Given the description of an element on the screen output the (x, y) to click on. 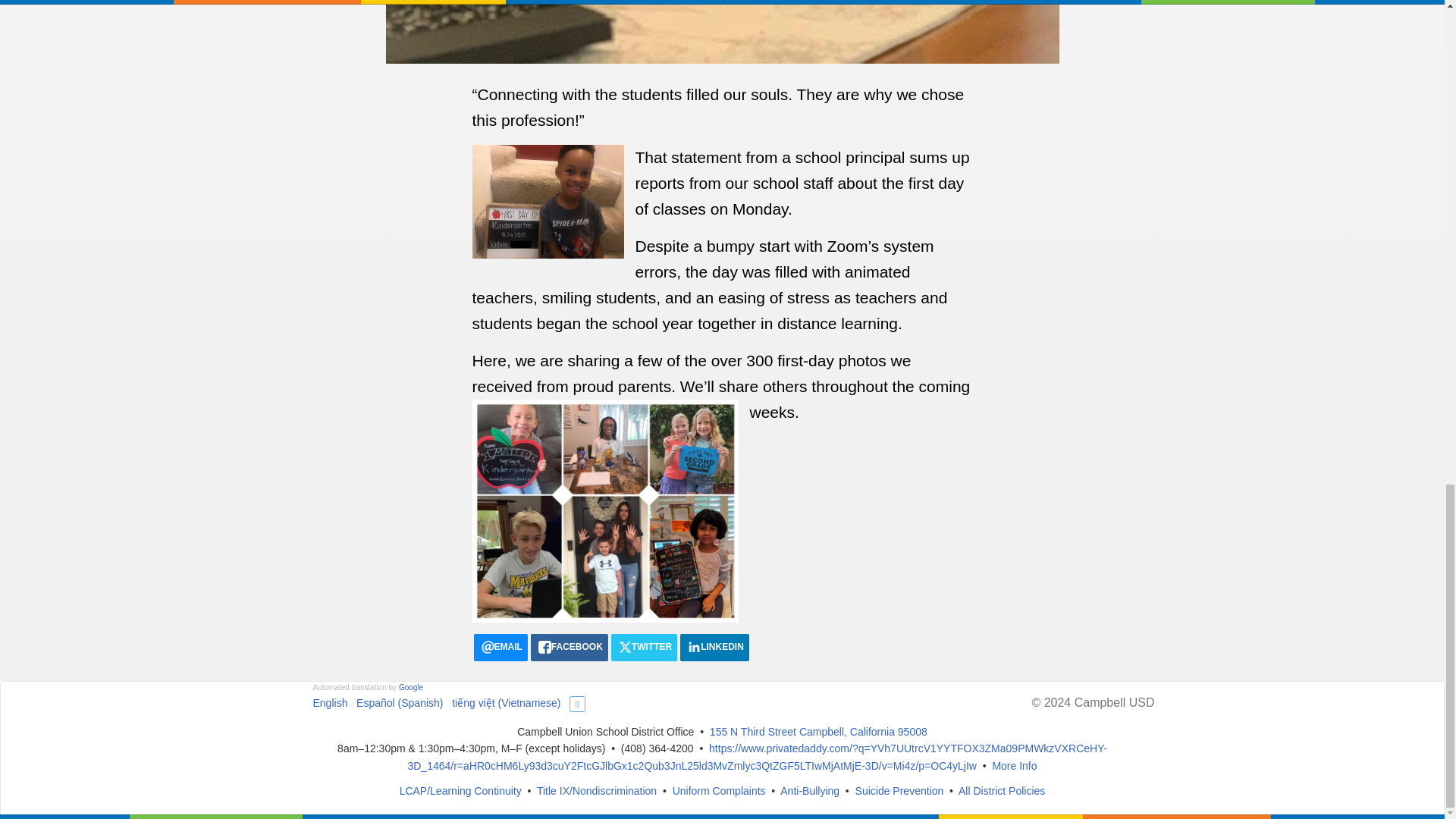
Share on Facebook (569, 646)
Share with Email (500, 646)
Share on Linkedin (714, 646)
Share on X (644, 646)
